Given the description of an element on the screen output the (x, y) to click on. 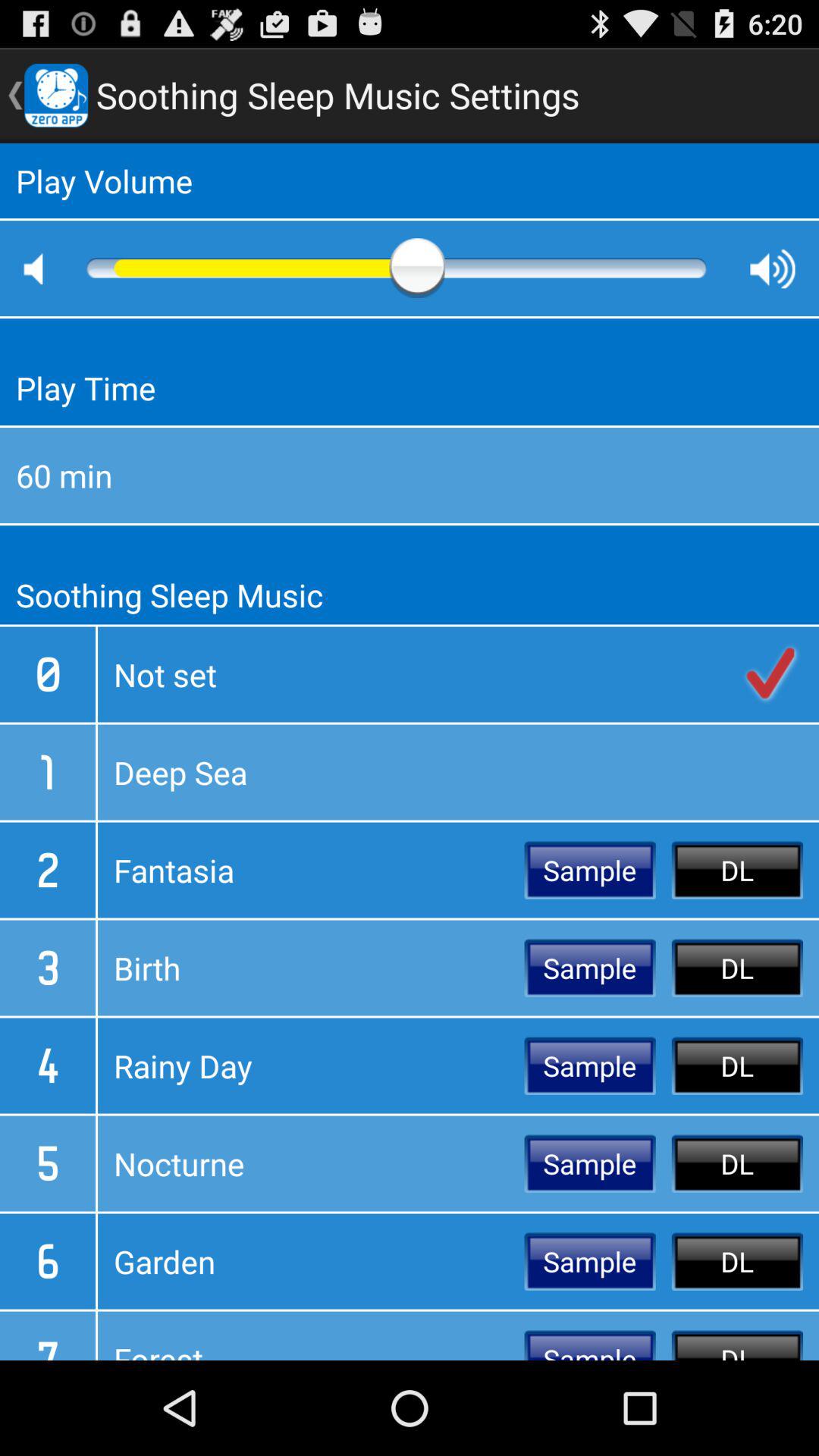
select icon to the left of sample item (310, 1261)
